Given the description of an element on the screen output the (x, y) to click on. 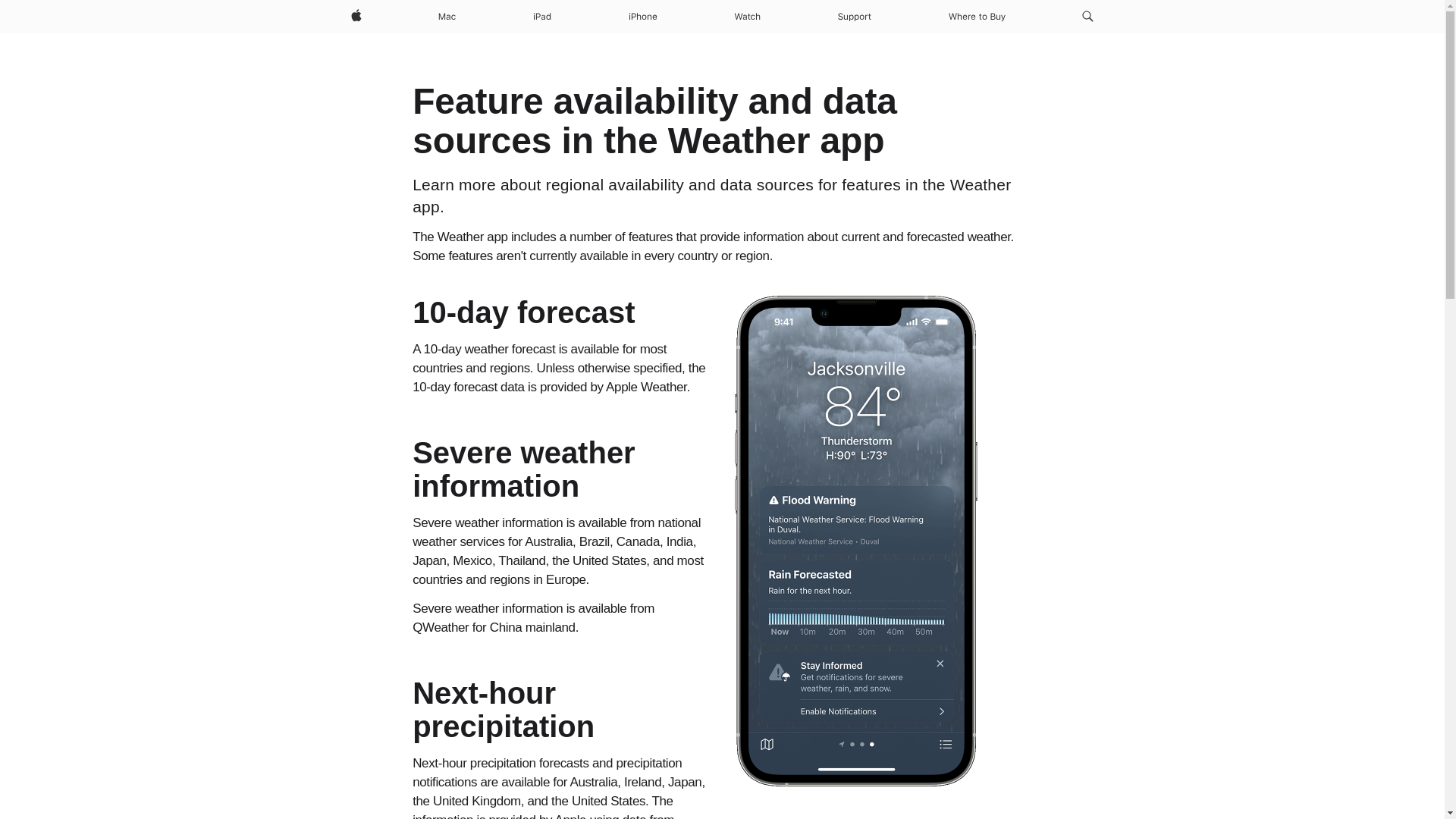
Support (854, 16)
iPhone (643, 16)
iPad (542, 16)
Watch (747, 16)
Apple (354, 16)
Mac (446, 16)
